Given the description of an element on the screen output the (x, y) to click on. 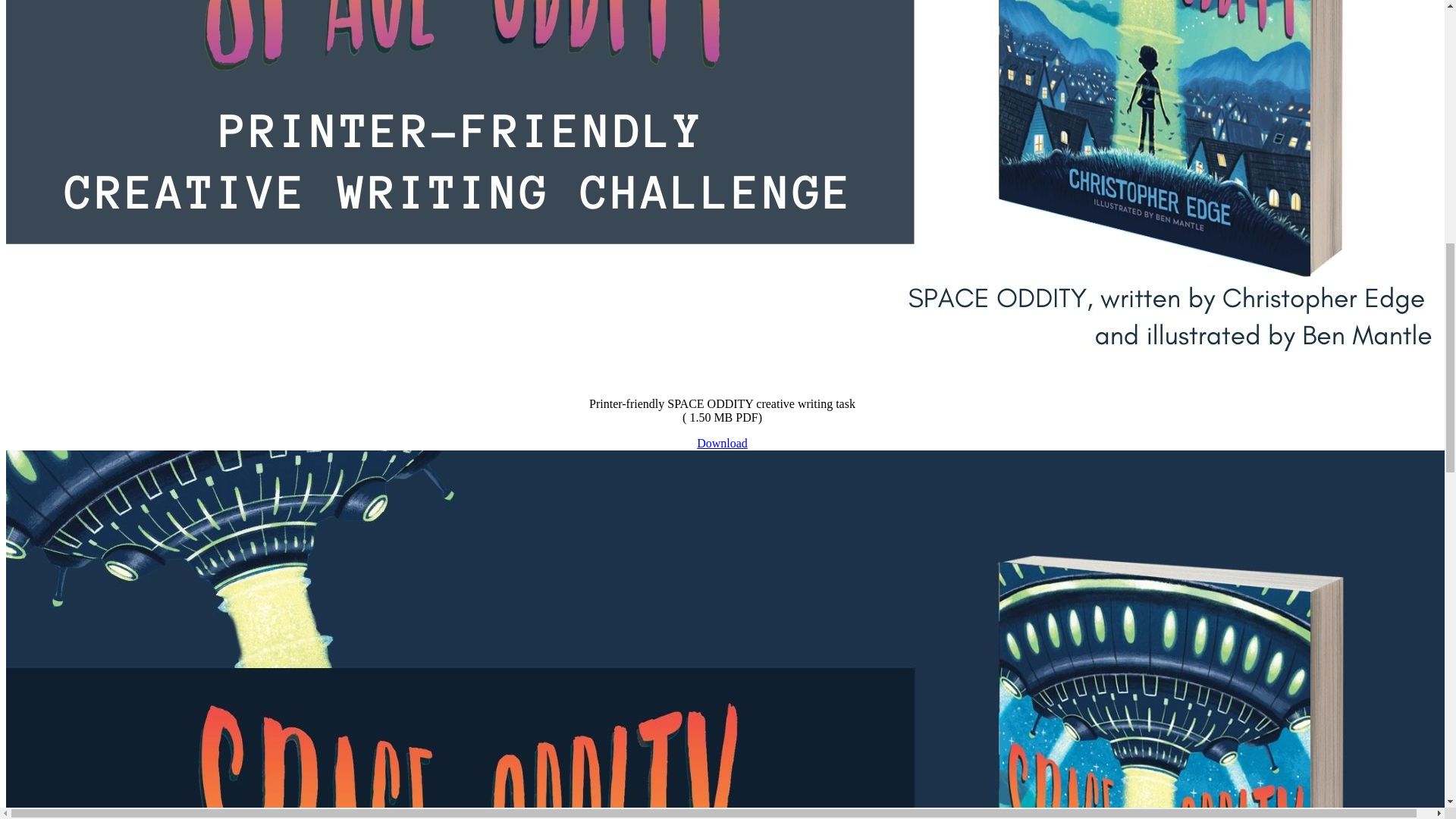
Download (722, 442)
